Given the description of an element on the screen output the (x, y) to click on. 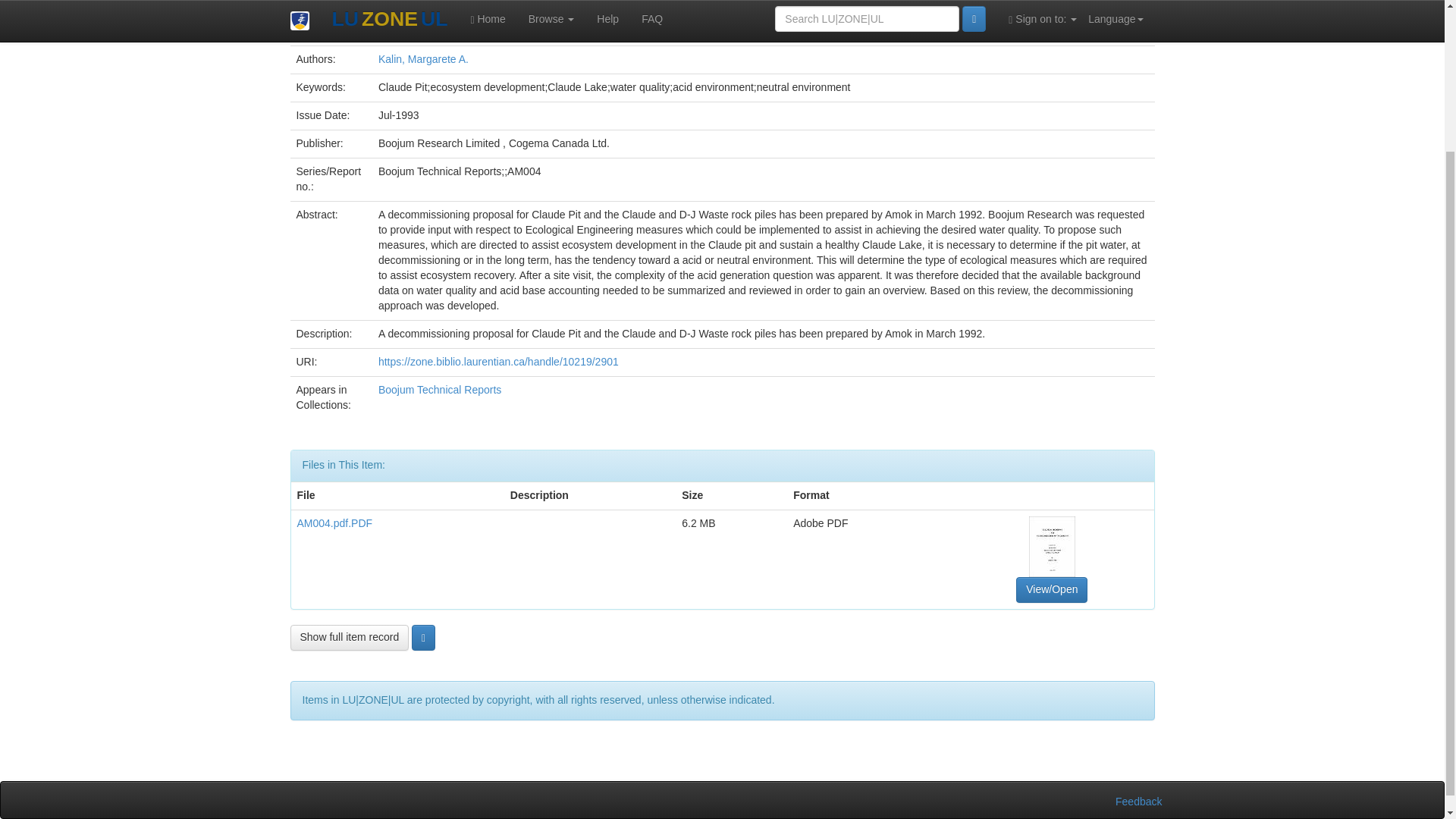
Boojum Technical Reports (439, 389)
Feedback (1138, 801)
Show full item record (349, 637)
AM004.pdf.PDF (334, 522)
Kalin, Margarete A. (423, 59)
